Given the description of an element on the screen output the (x, y) to click on. 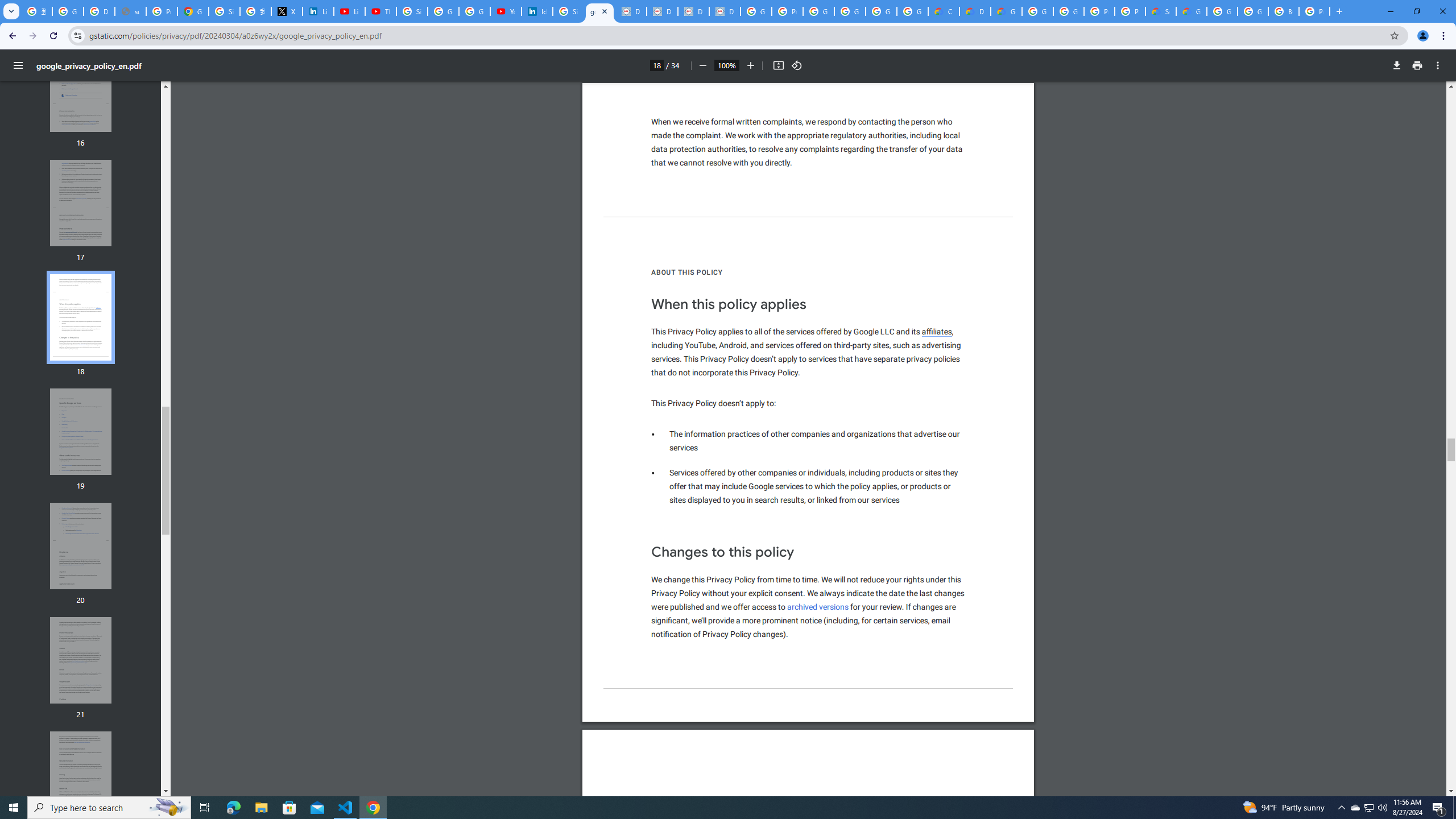
Thumbnail for page 17 (80, 202)
